Given the description of an element on the screen output the (x, y) to click on. 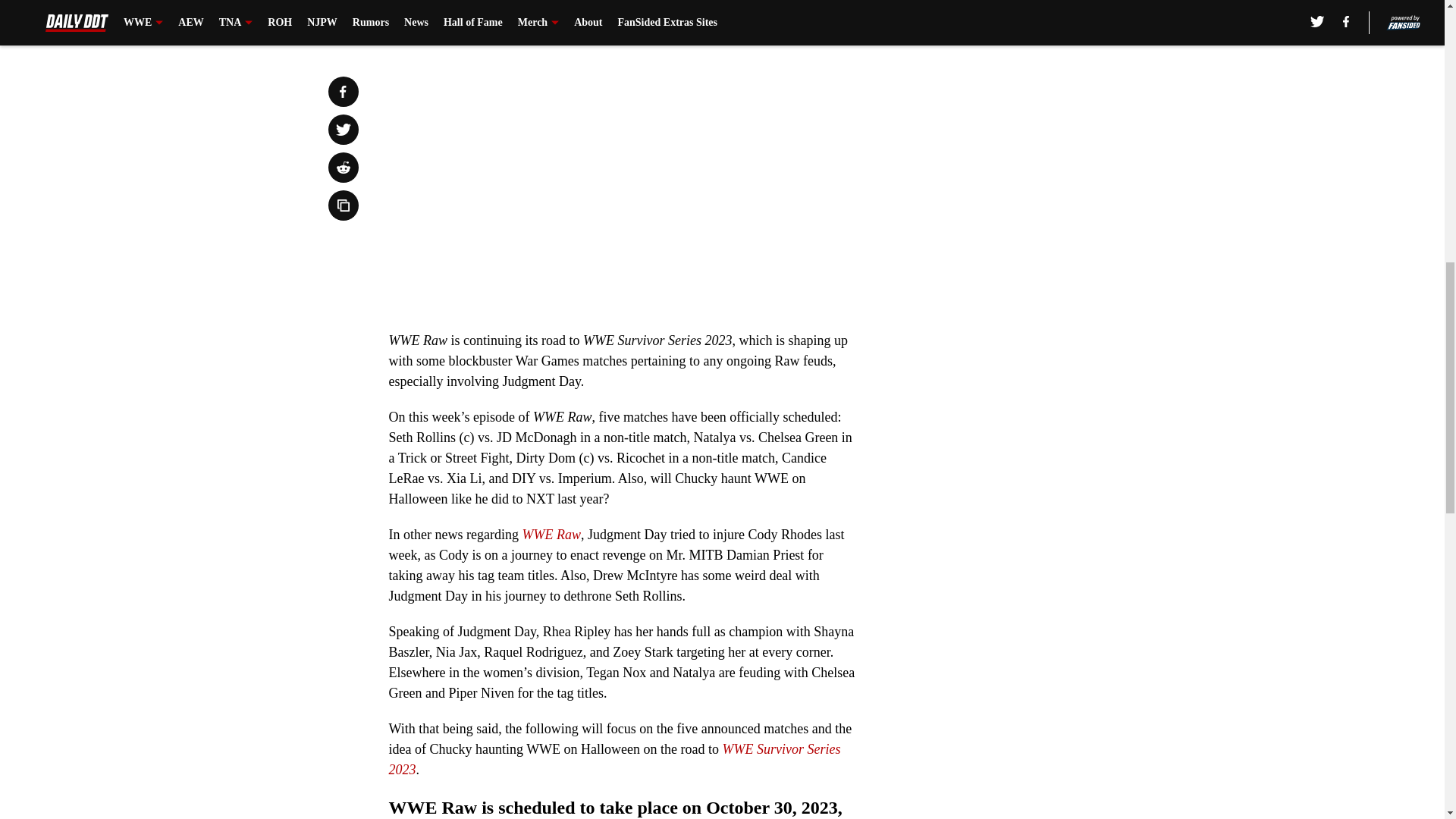
WWE Raw (550, 534)
Prev (433, 20)
WWE Survivor Series 2023 (614, 759)
Next (813, 20)
